Given the description of an element on the screen output the (x, y) to click on. 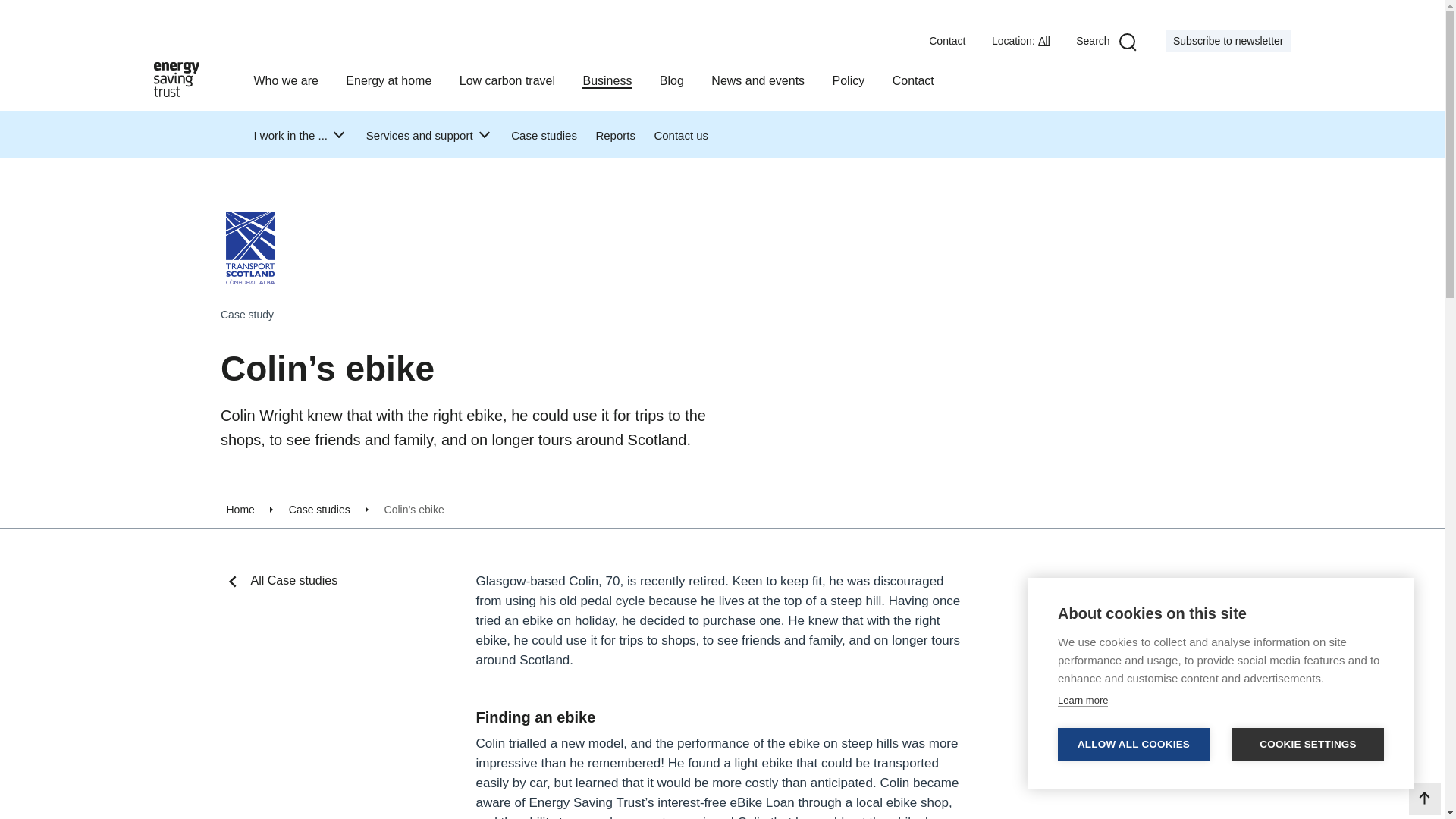
COOKIE SETTINGS (1307, 744)
ALLOW ALL COOKIES (1133, 744)
Learn more (1083, 700)
